Given the description of an element on the screen output the (x, y) to click on. 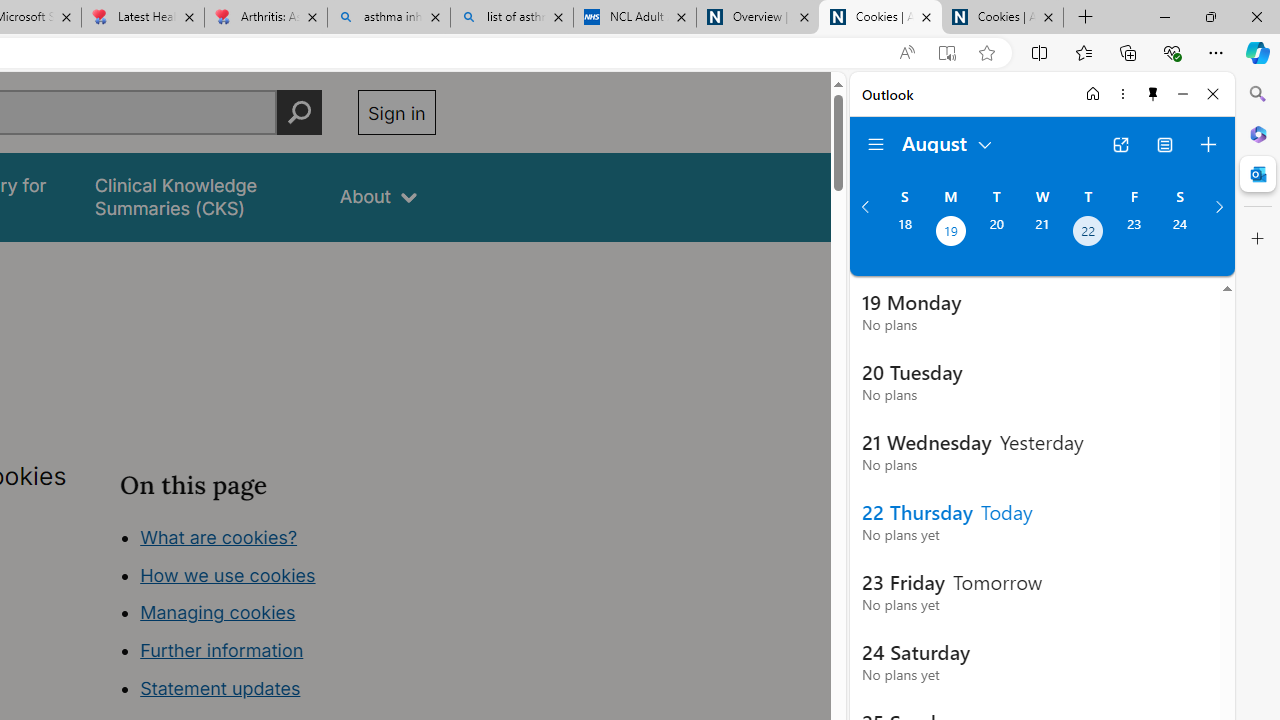
August (948, 141)
Arthritis: Ask Health Professionals (265, 17)
Class: in-page-nav__list (277, 615)
What are cookies? (218, 536)
